Given the description of an element on the screen output the (x, y) to click on. 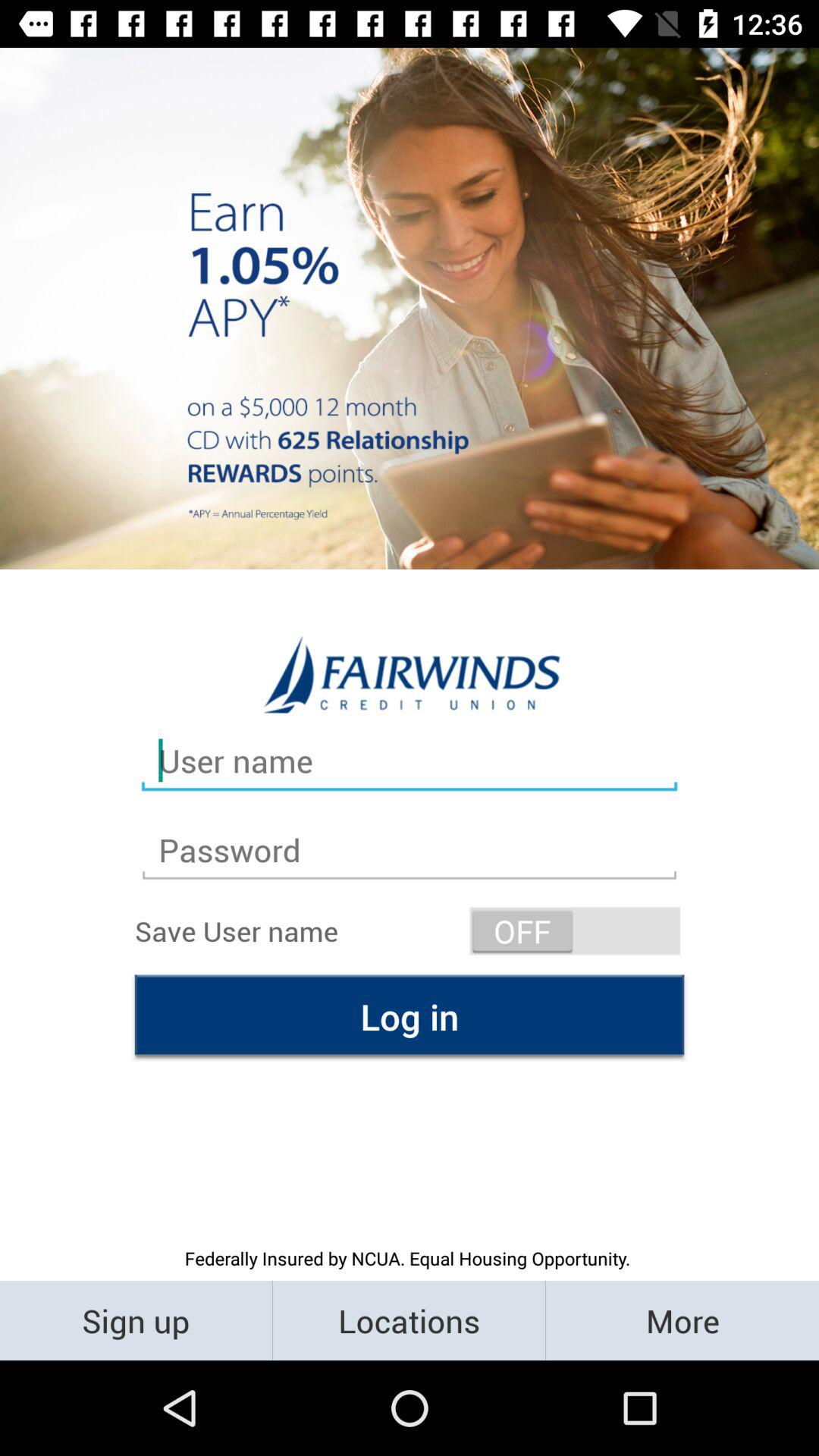
select the icon next to the sign up item (409, 1320)
